Given the description of an element on the screen output the (x, y) to click on. 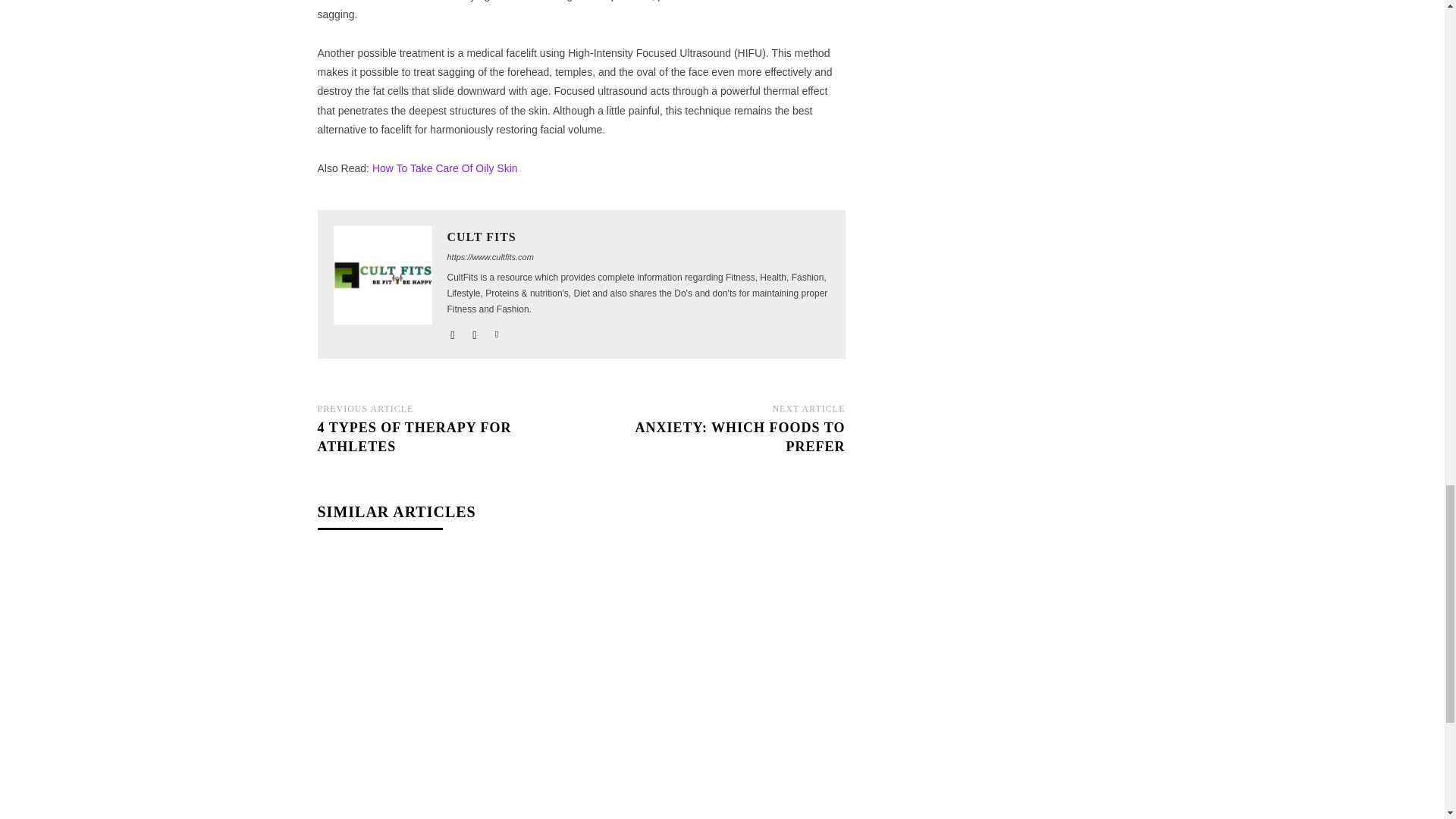
twitter (497, 331)
instagram (474, 331)
Liver Cirrhosis: What To Do And What To Eat (716, 638)
facebook (452, 331)
Muscle Pain Workout: How To Prevent Them (444, 638)
